Given the description of an element on the screen output the (x, y) to click on. 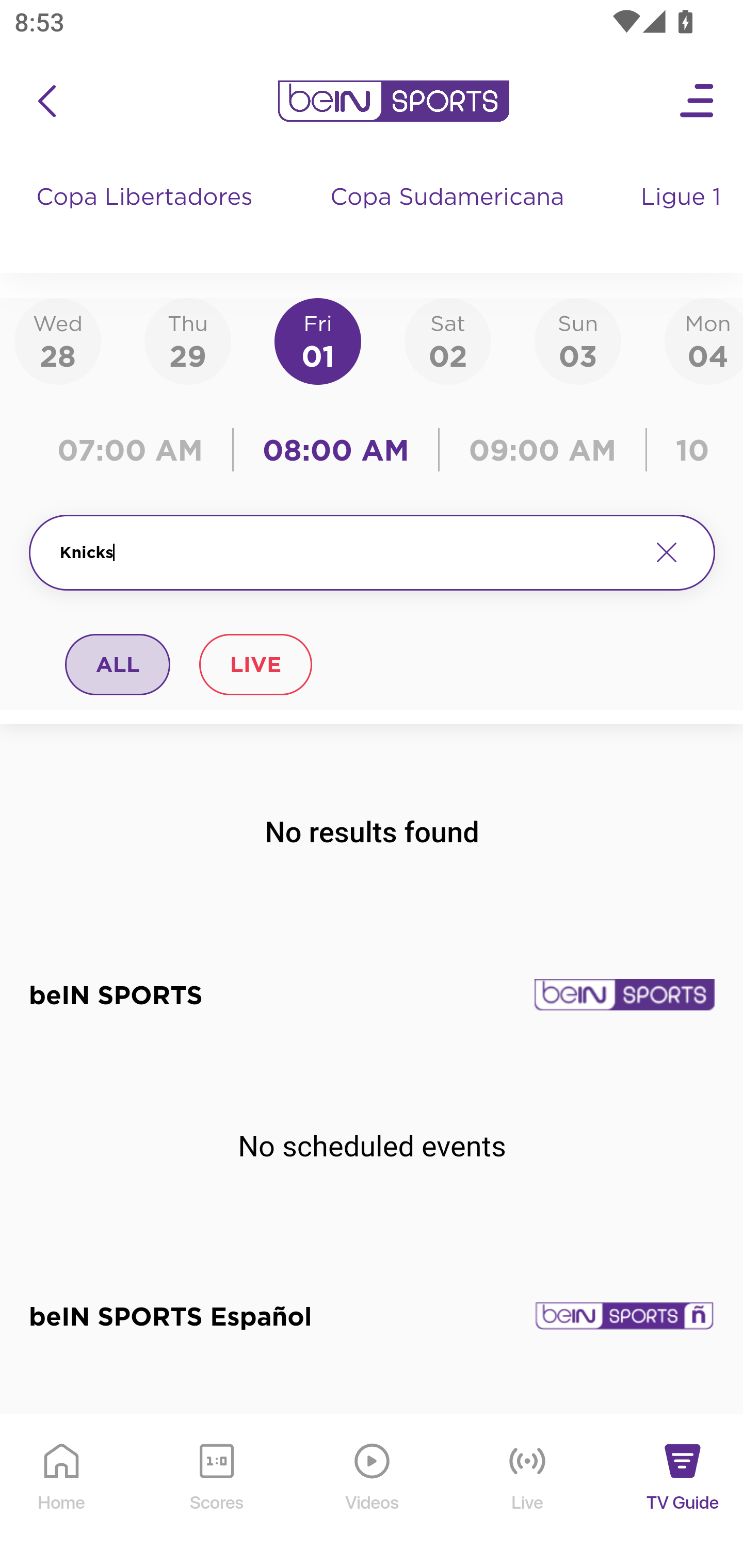
en-us?platform=mobile_android bein logo (392, 101)
icon back (46, 101)
Open Menu Icon (697, 101)
Copa Libertadores (146, 216)
Copa Sudamericana (448, 216)
Ligue 1 (682, 216)
Wed28 (58, 340)
Thu29 (187, 340)
Fri01 (318, 340)
Sat02 (447, 340)
Sun03 (578, 340)
Mon04 (703, 340)
07:00 AM (135, 449)
08:00 AM (336, 449)
09:00 AM (542, 449)
Knicks (346, 552)
ALL (118, 663)
LIVE (255, 663)
Home Home Icon Home (61, 1491)
Scores Scores Icon Scores (216, 1491)
Videos Videos Icon Videos (372, 1491)
TV Guide TV Guide Icon TV Guide (682, 1491)
